Given the description of an element on the screen output the (x, y) to click on. 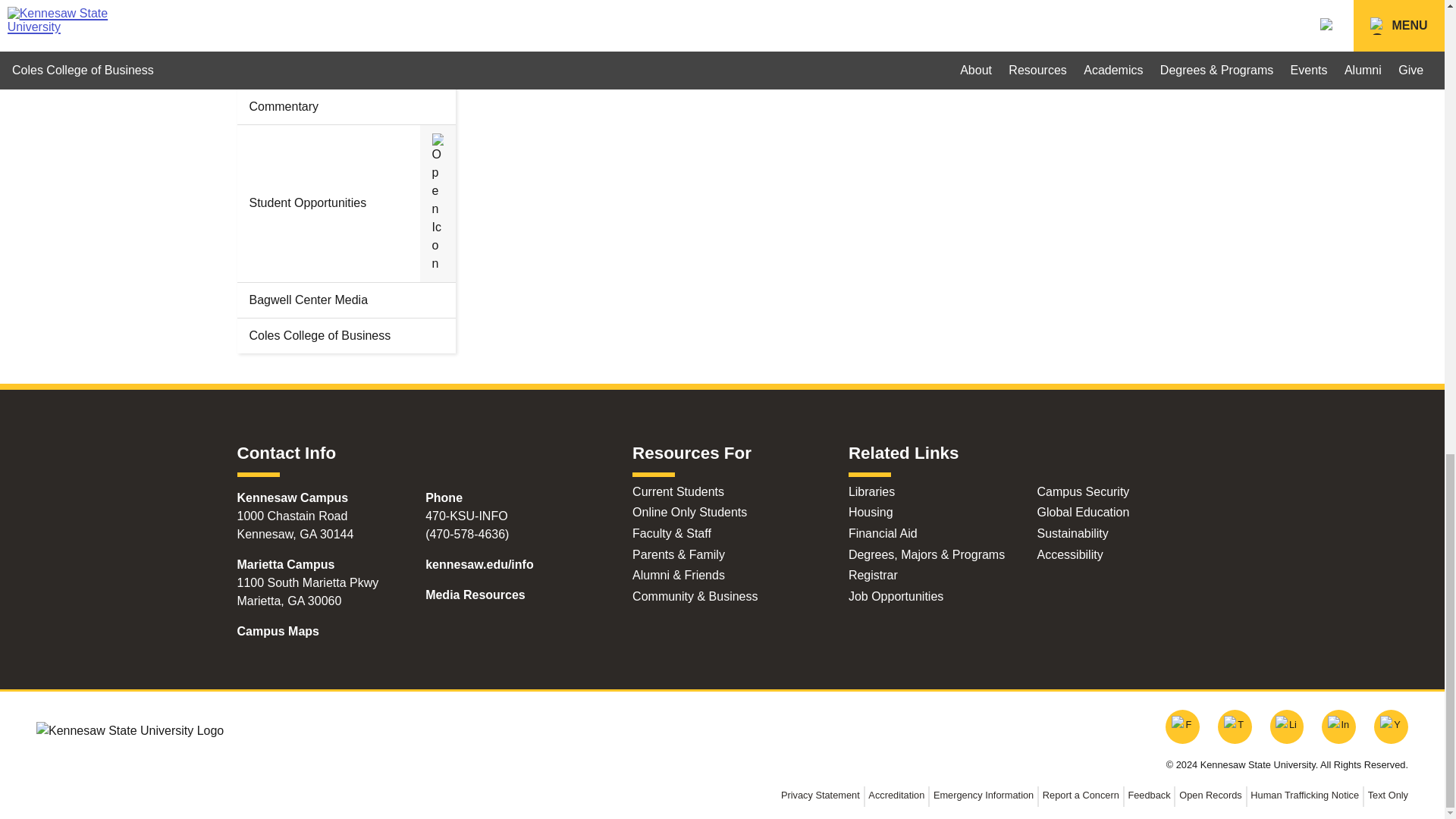
KSU Facebook (1182, 726)
KSU Instagram (1338, 726)
KSU YouTube (1390, 726)
Instagram (855, 43)
KSU LinkedIn (1286, 726)
Twitter (1091, 43)
Facebook (619, 43)
KSU Twitter (1234, 726)
